Given the description of an element on the screen output the (x, y) to click on. 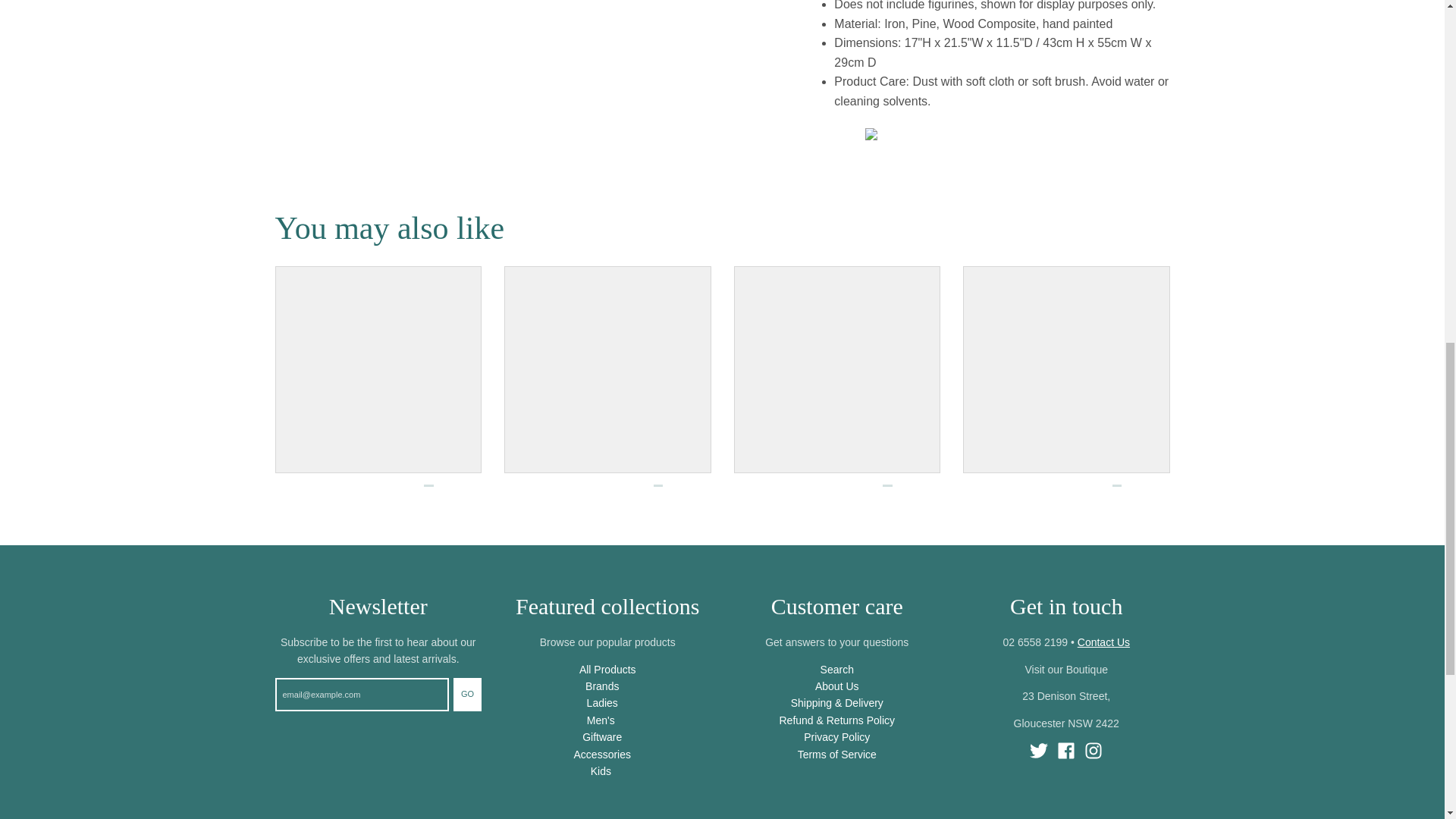
Instagram - Uptown Country Gloucester (1093, 751)
Twitter - Uptown Country Gloucester (1038, 751)
Facebook - Uptown Country Gloucester (1066, 751)
